Given the description of an element on the screen output the (x, y) to click on. 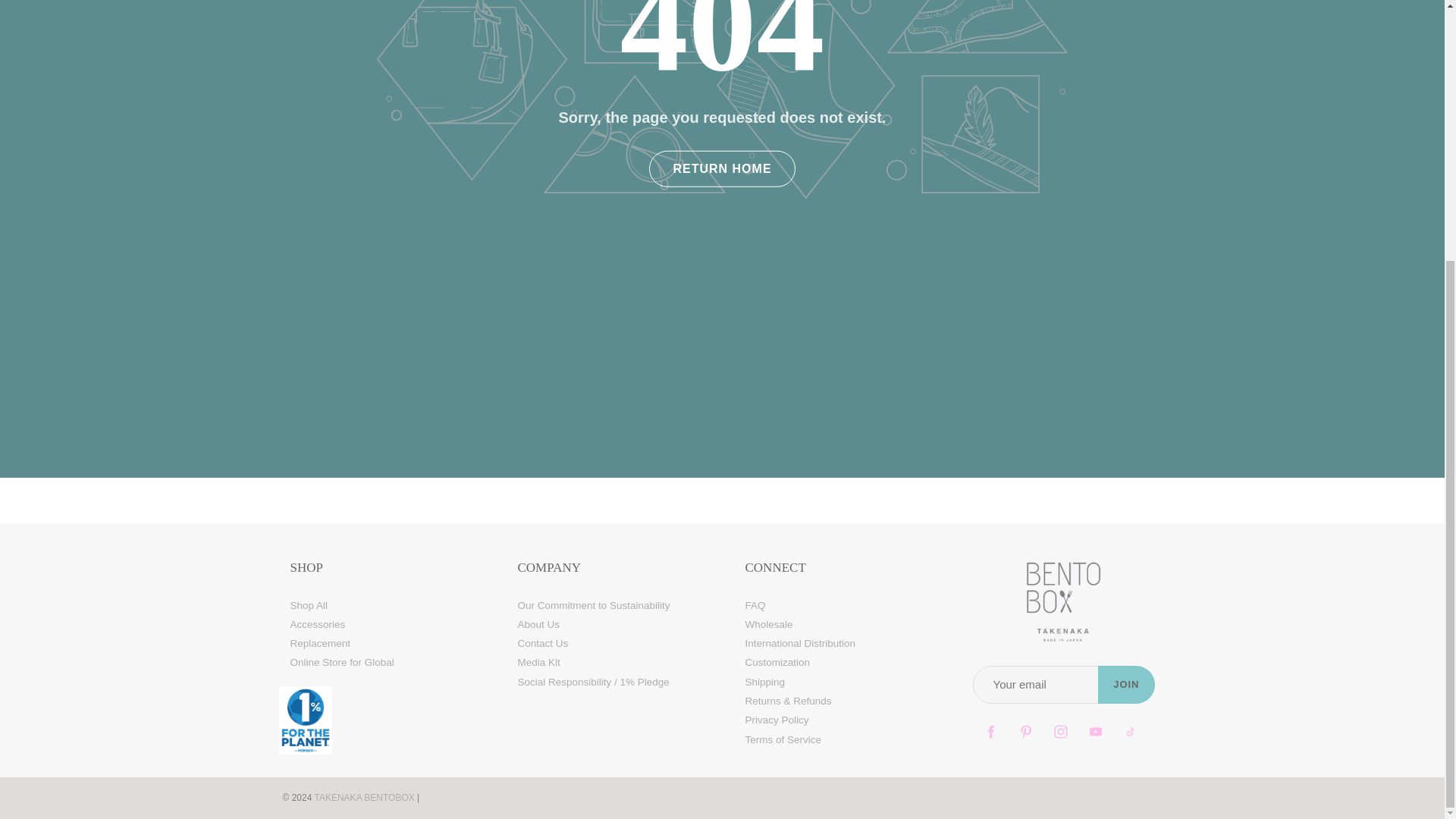
Accessories (317, 624)
RETURN HOME (721, 168)
Tiktok (1129, 732)
Our Commitment to Sustainability (592, 604)
Contact Us (541, 643)
Online Store for Global (341, 662)
Shop All (308, 604)
Pinterest (1026, 732)
Media Kit (537, 662)
FAQ (754, 604)
